Given the description of an element on the screen output the (x, y) to click on. 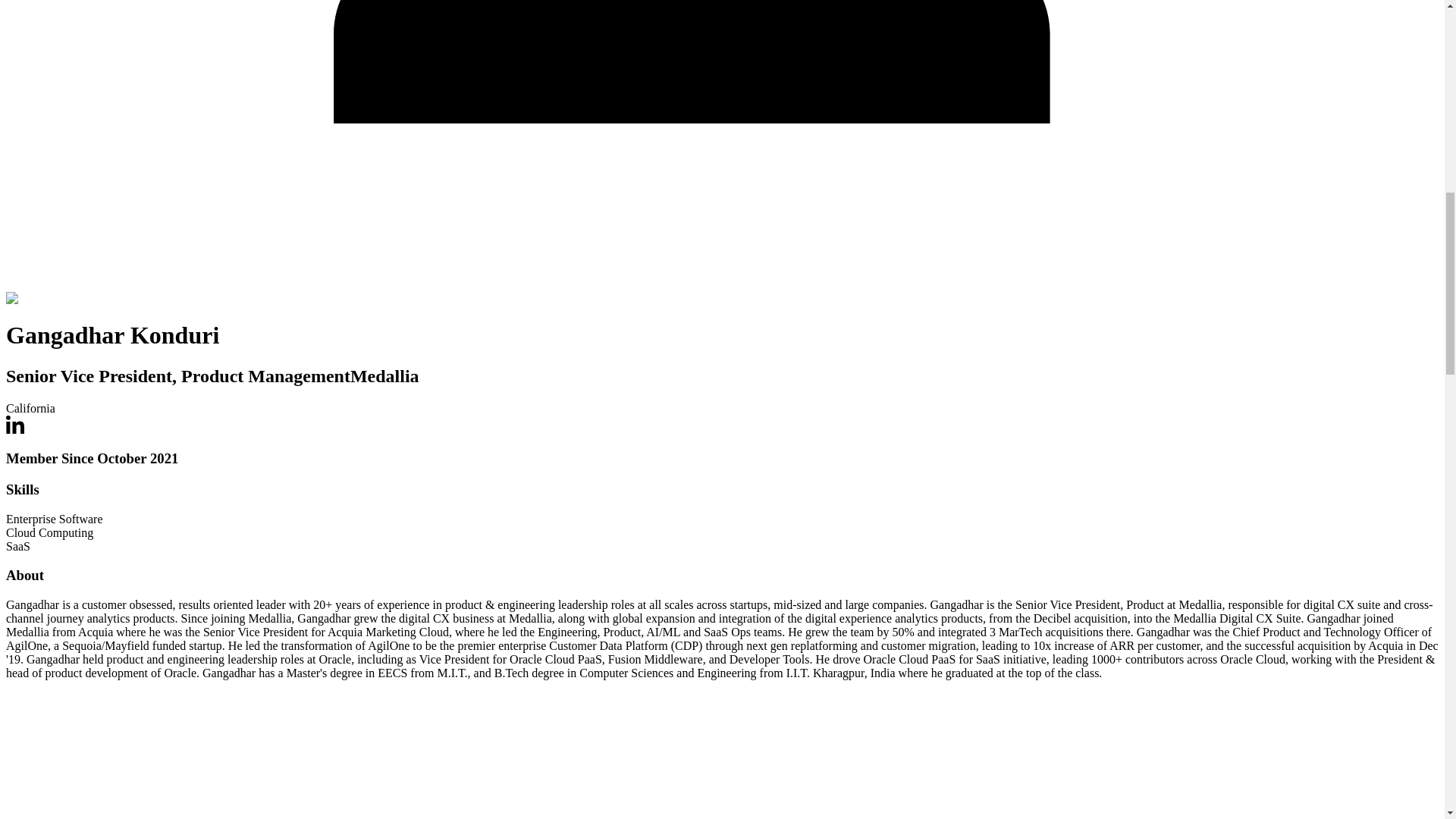
LinkedIn (14, 429)
LinkedIn (14, 424)
